Given the description of an element on the screen output the (x, y) to click on. 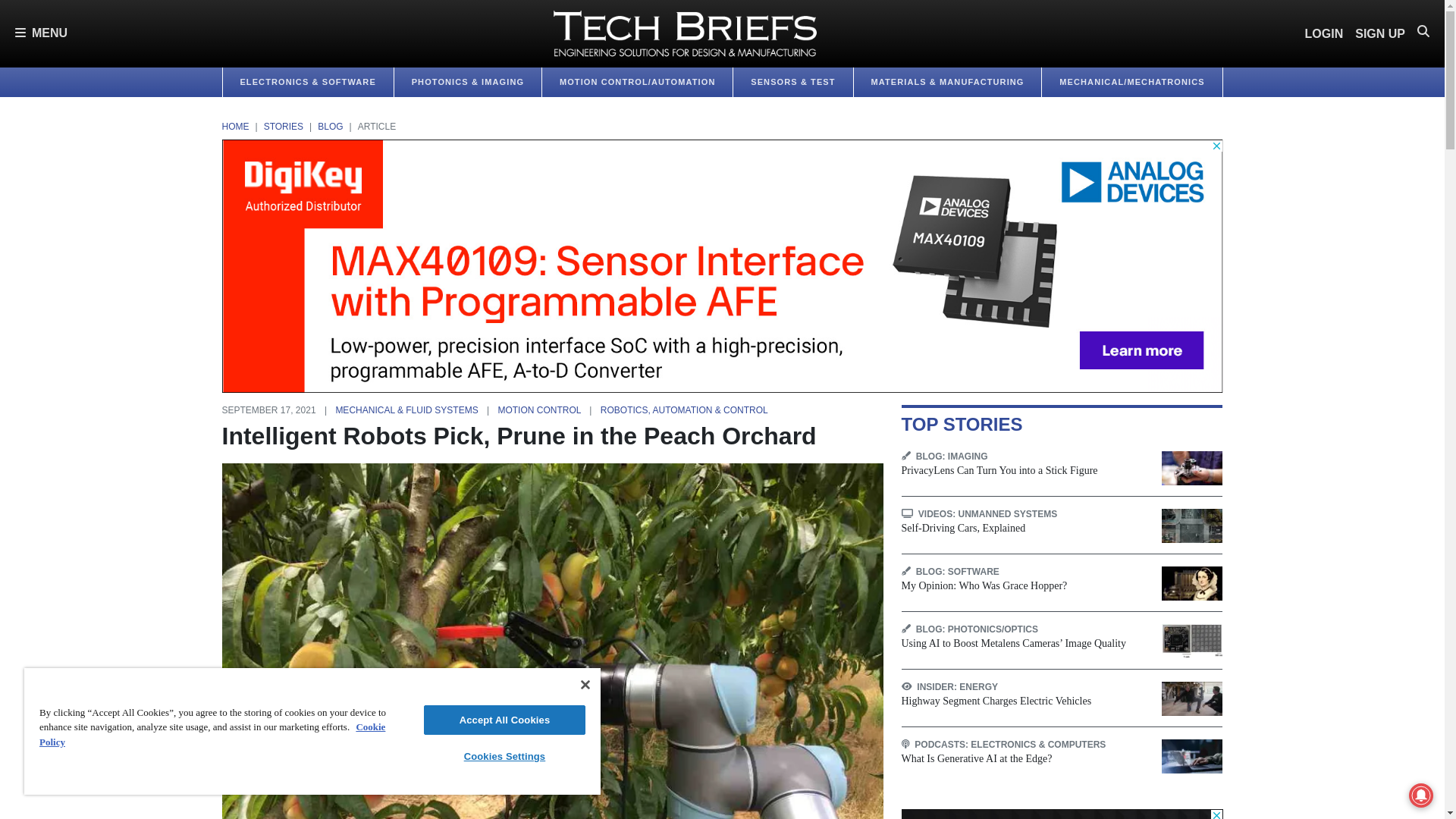
3rd party ad content (1062, 814)
MENU (41, 33)
SIGN UP (1379, 32)
LOGIN (1323, 32)
